Given the description of an element on the screen output the (x, y) to click on. 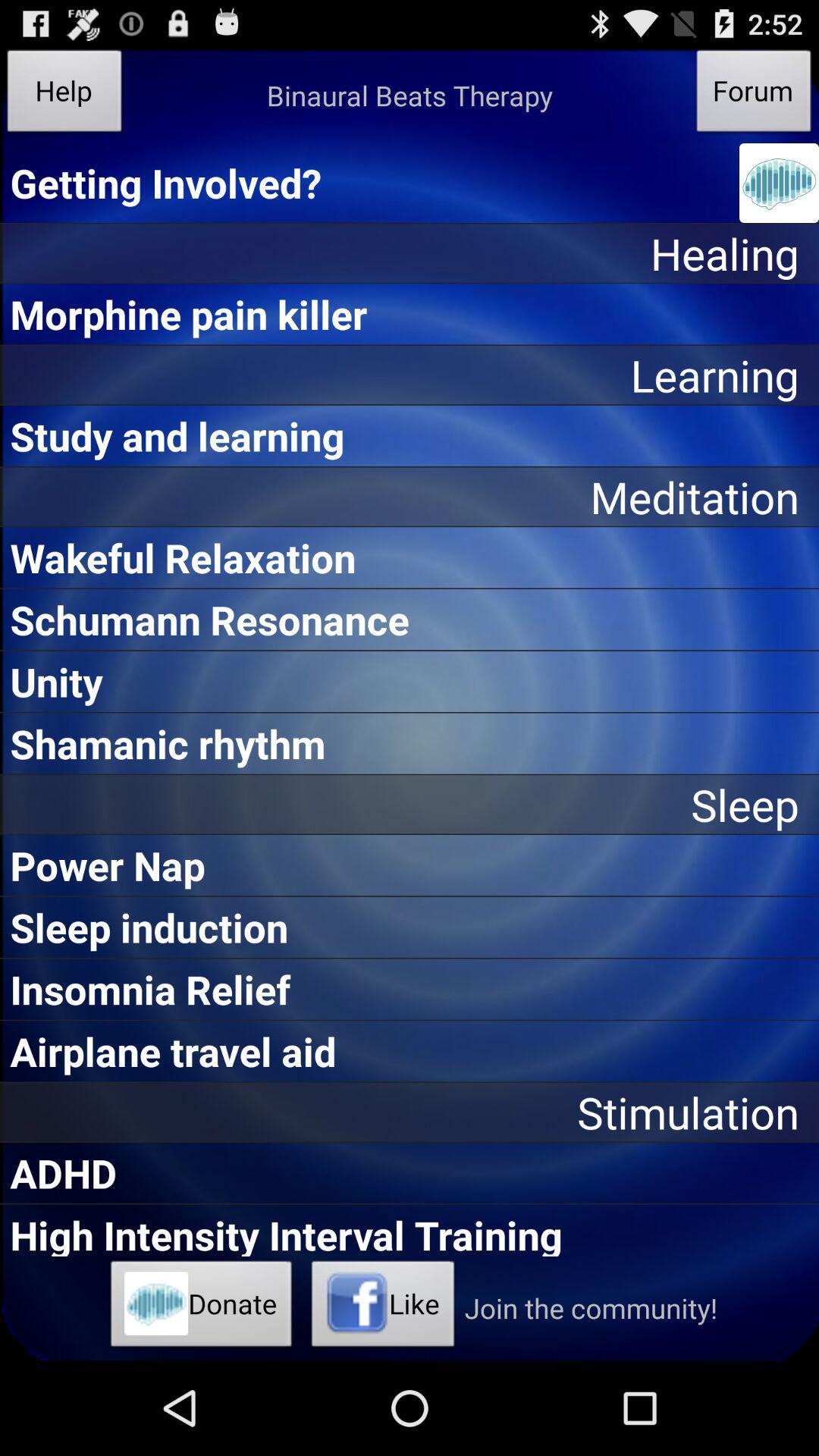
swipe until like button (383, 1308)
